Given the description of an element on the screen output the (x, y) to click on. 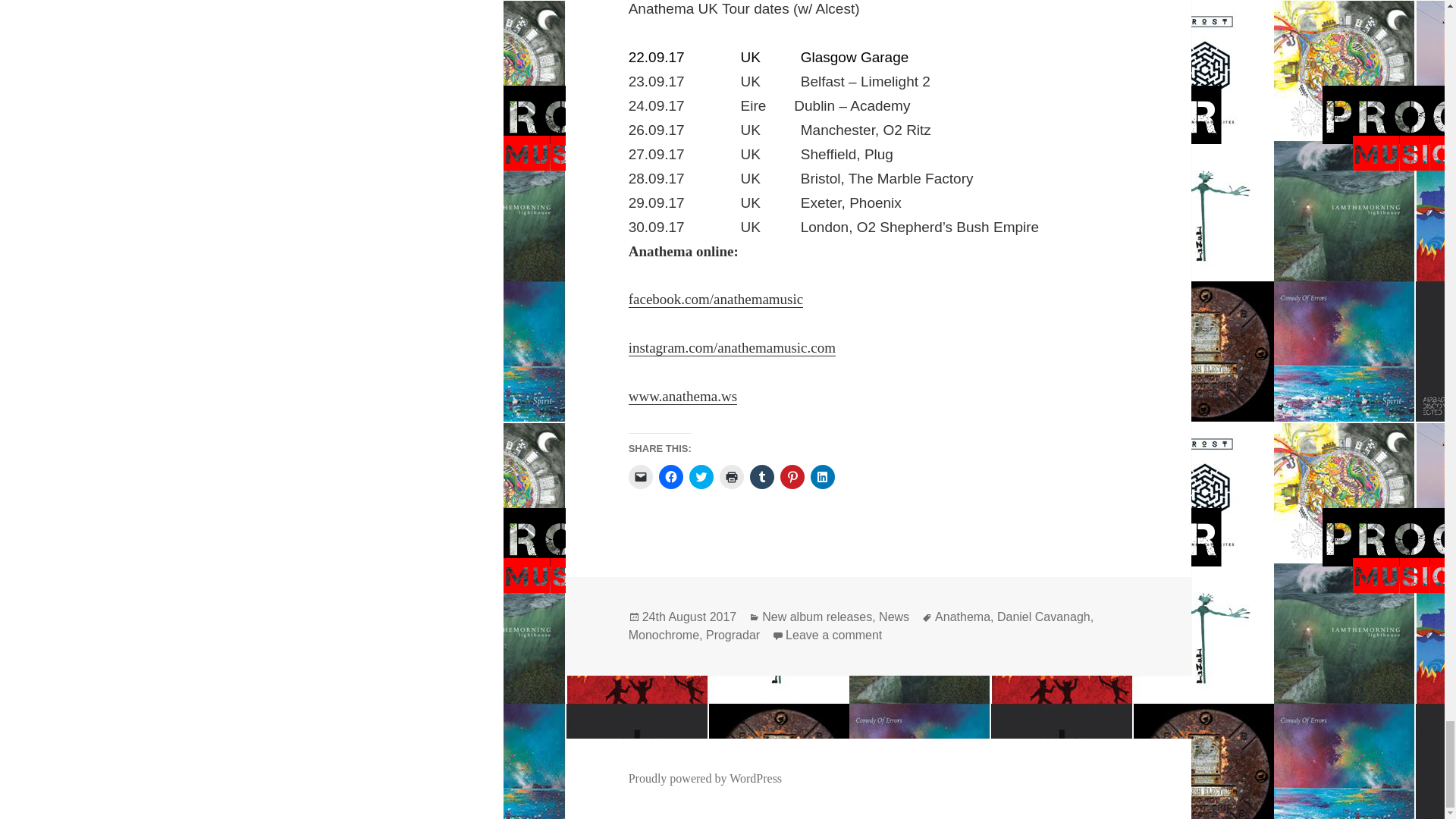
Click to print (731, 476)
Click to share on Facebook (670, 476)
Click to share on Pinterest (792, 476)
Click to email a link to a friend (640, 476)
Click to share on Twitter (700, 476)
Click to share on Tumblr (761, 476)
